Given the description of an element on the screen output the (x, y) to click on. 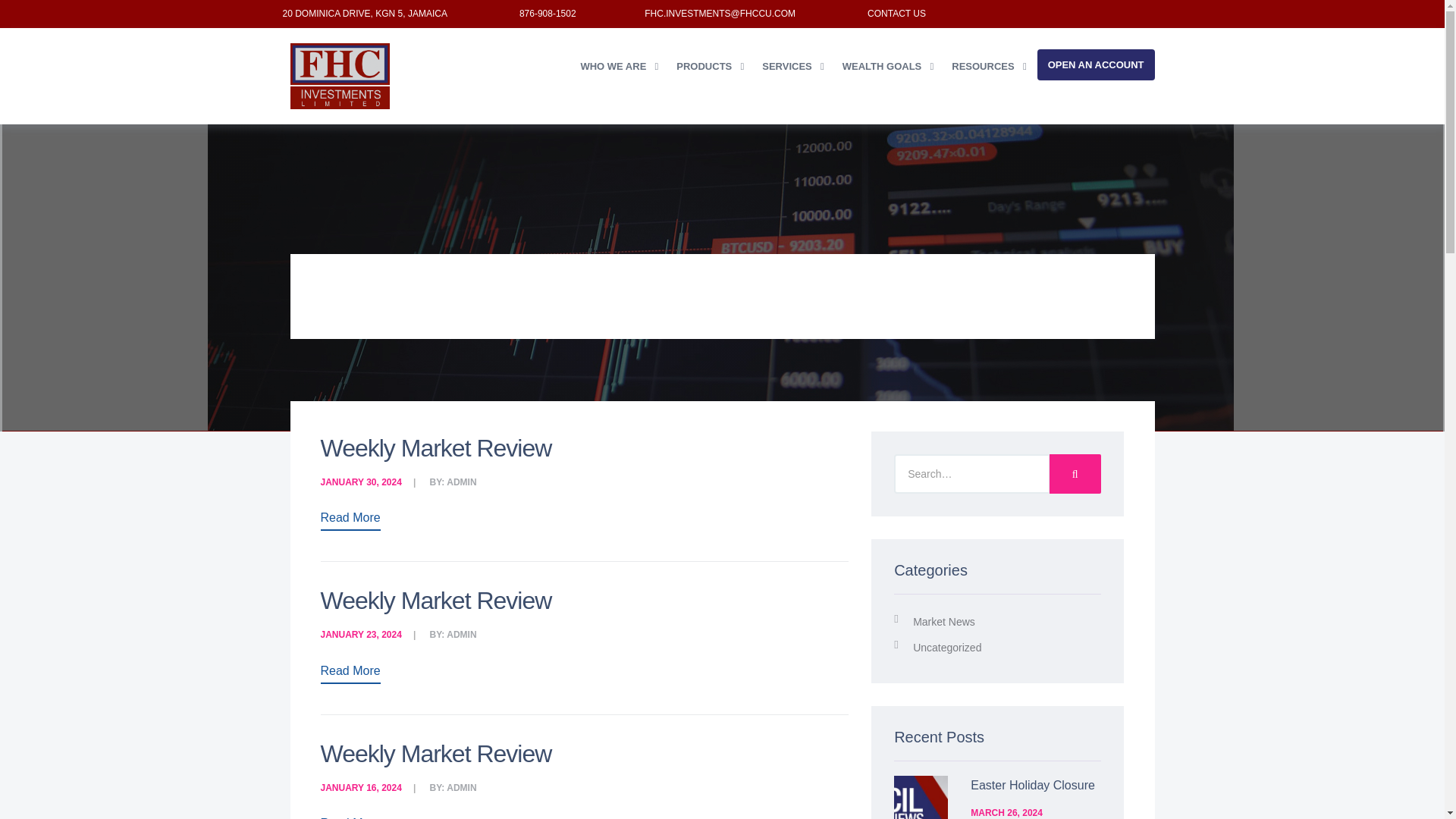
PRODUCTS (711, 66)
876-908-1502 (547, 13)
SERVICES (794, 66)
RESOURCES (989, 66)
WEALTH GOALS (888, 66)
20 DOMINICA DRIVE, KGN 5, JAMAICA (364, 13)
CONTACT US (896, 13)
WHO WE ARE (620, 66)
